Given the description of an element on the screen output the (x, y) to click on. 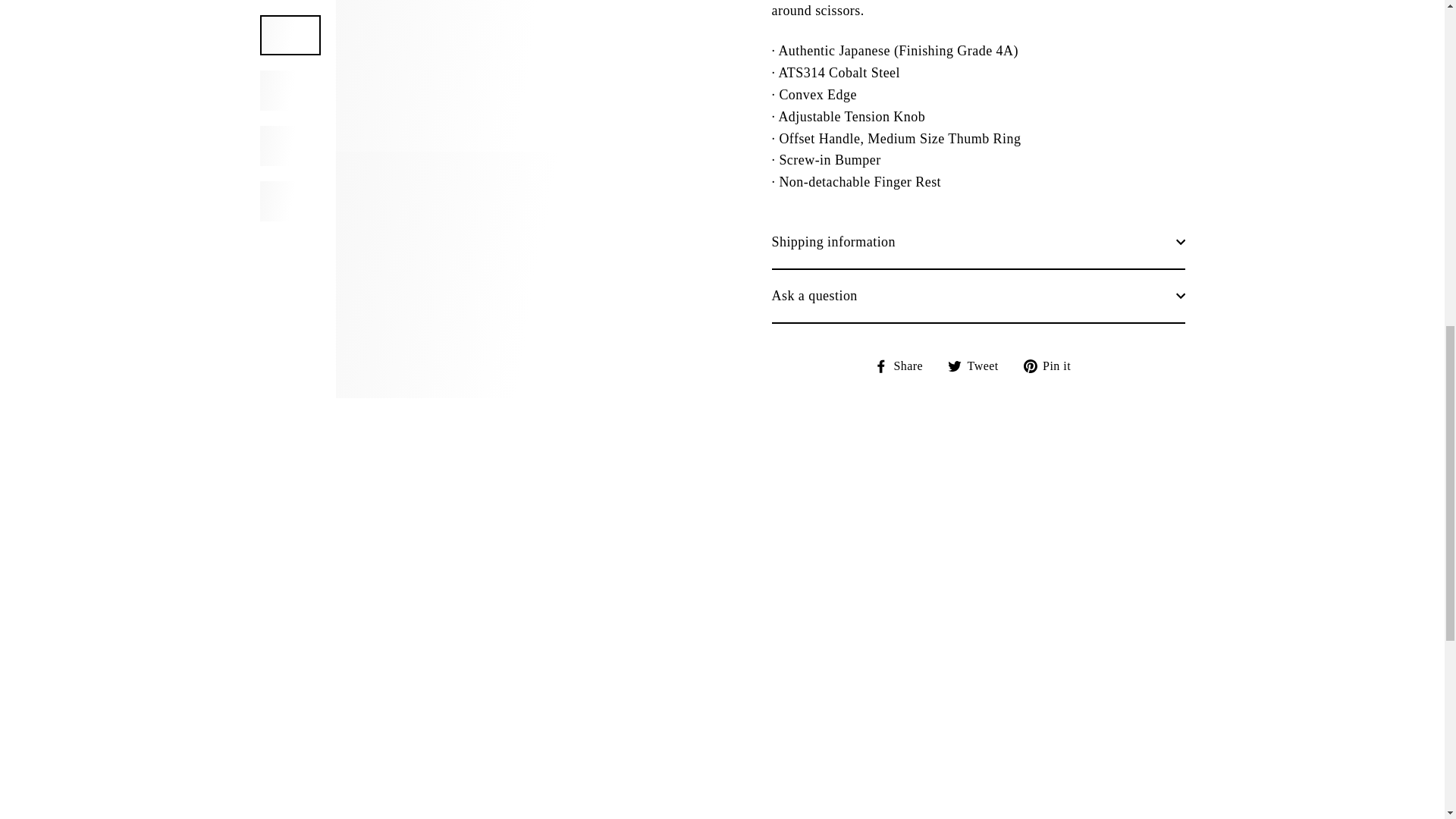
Tweet on Twitter (978, 336)
MENU (162, 46)
Pin on Pinterest (1052, 336)
Share on Facebook (904, 336)
